Given the description of an element on the screen output the (x, y) to click on. 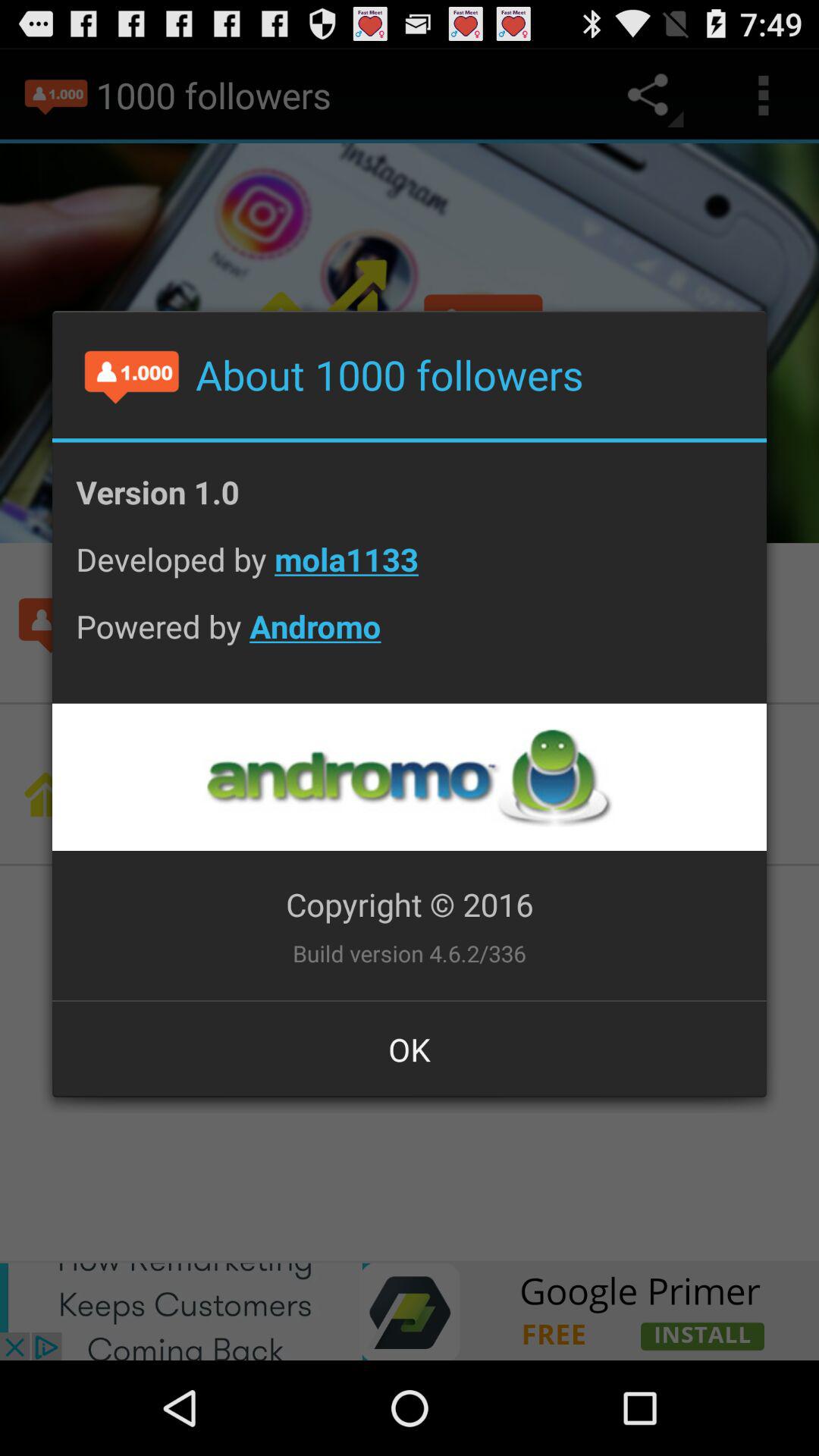
scroll until the powered by andromo item (409, 637)
